Given the description of an element on the screen output the (x, y) to click on. 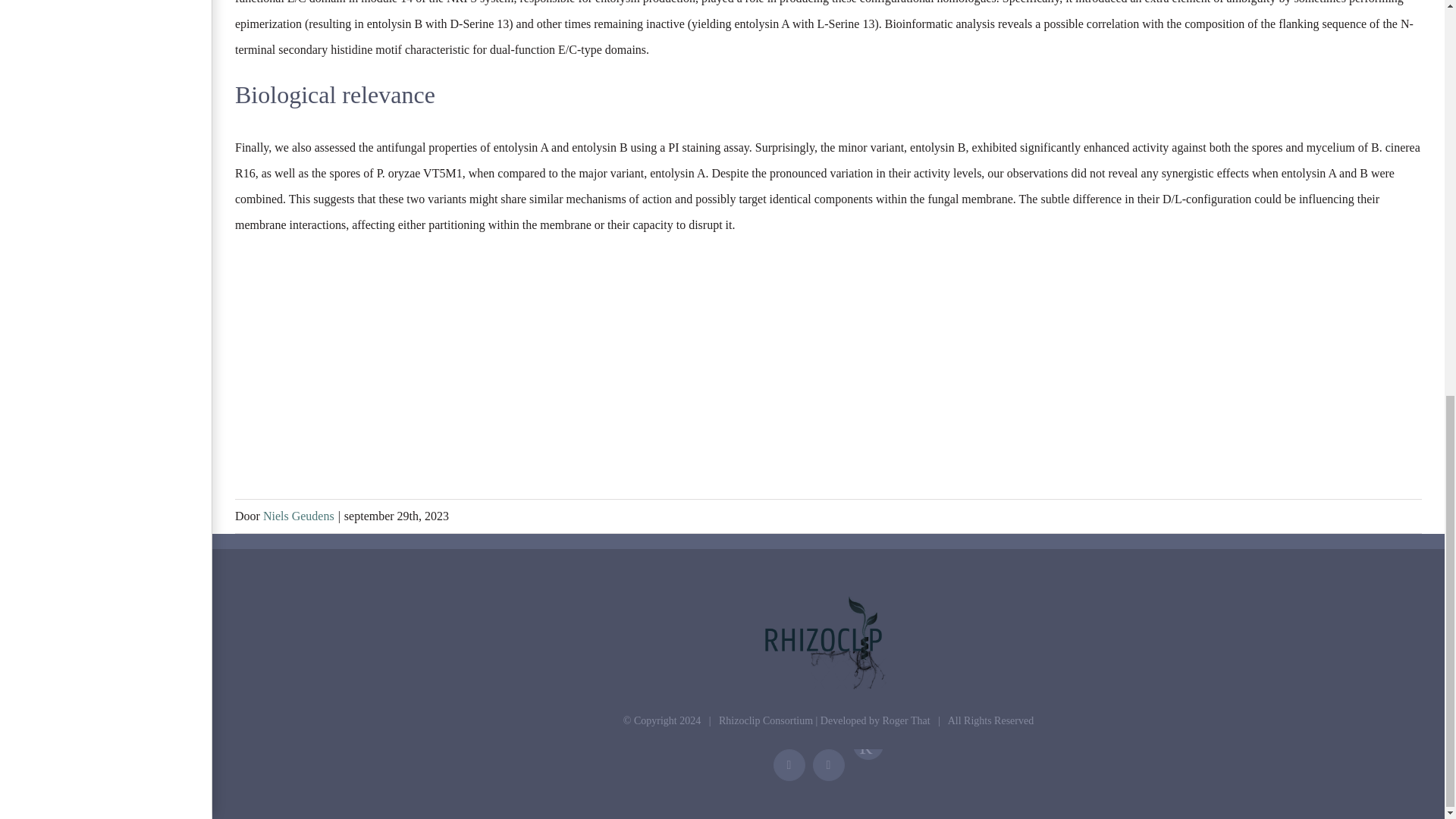
Berichten van Niels Geudens (298, 515)
